Given the description of an element on the screen output the (x, y) to click on. 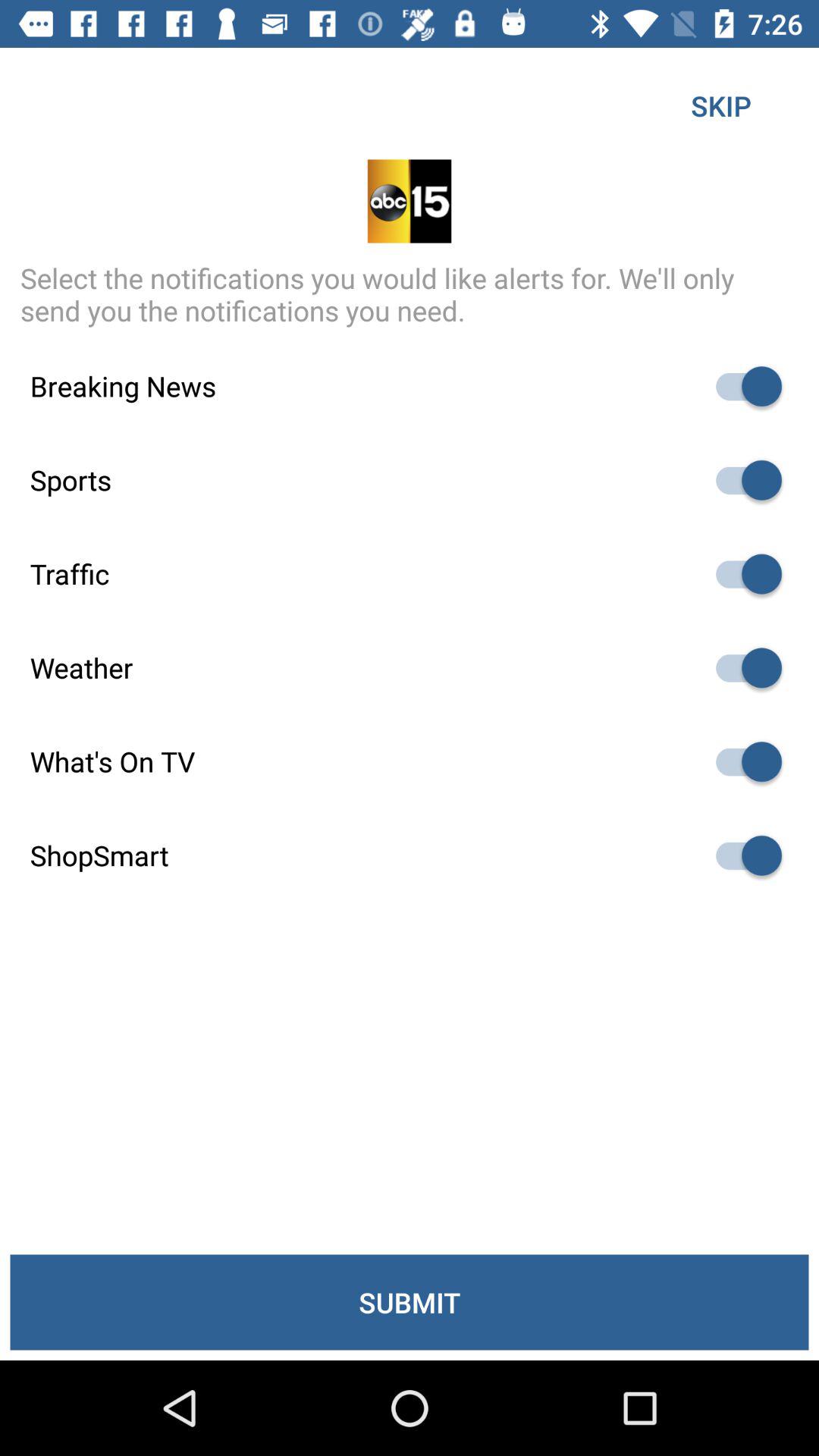
tap skip (720, 105)
